Given the description of an element on the screen output the (x, y) to click on. 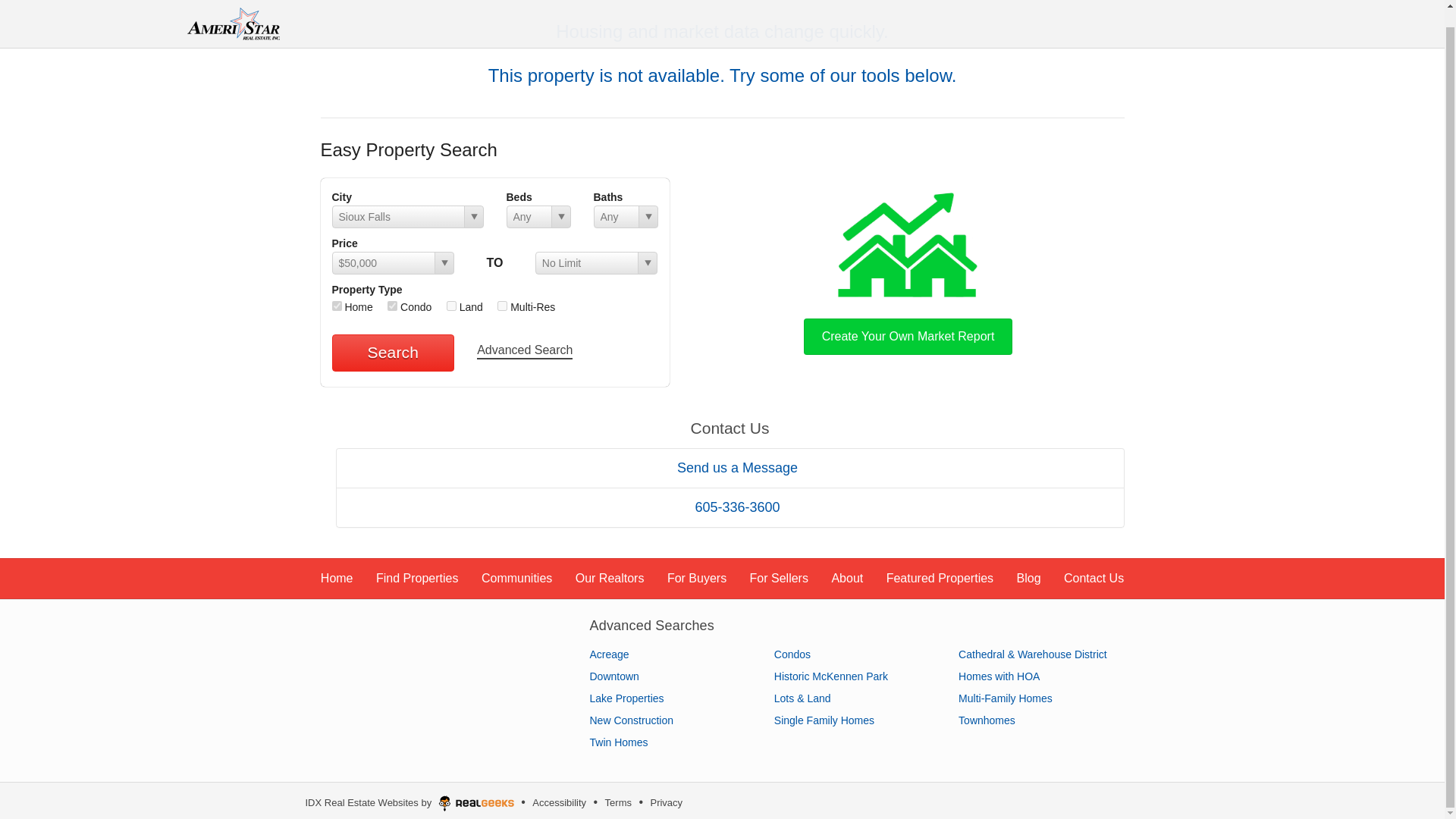
mul (501, 306)
Create Your Own Market Report (907, 270)
Lake Properties (626, 698)
Homes with HOA (998, 676)
Search (392, 352)
Acreage (608, 654)
605-336-3600 (729, 507)
For Buyers (696, 577)
About (847, 577)
Condos (792, 654)
